Given the description of an element on the screen output the (x, y) to click on. 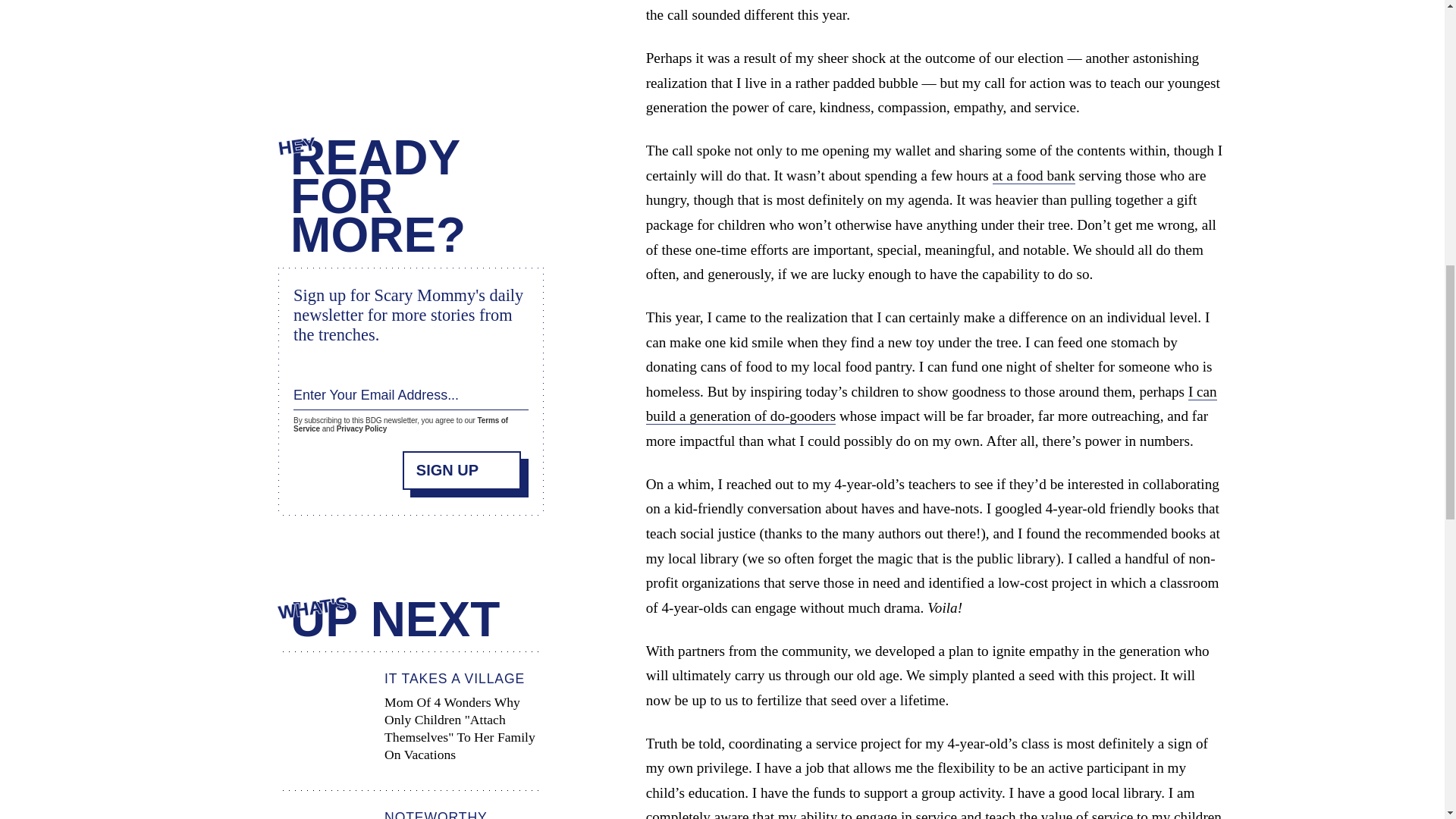
SIGN UP (462, 469)
Privacy Policy (361, 429)
at a food bank (1033, 175)
Terms of Service (401, 424)
I can build a generation of do-gooders (931, 404)
